Given the description of an element on the screen output the (x, y) to click on. 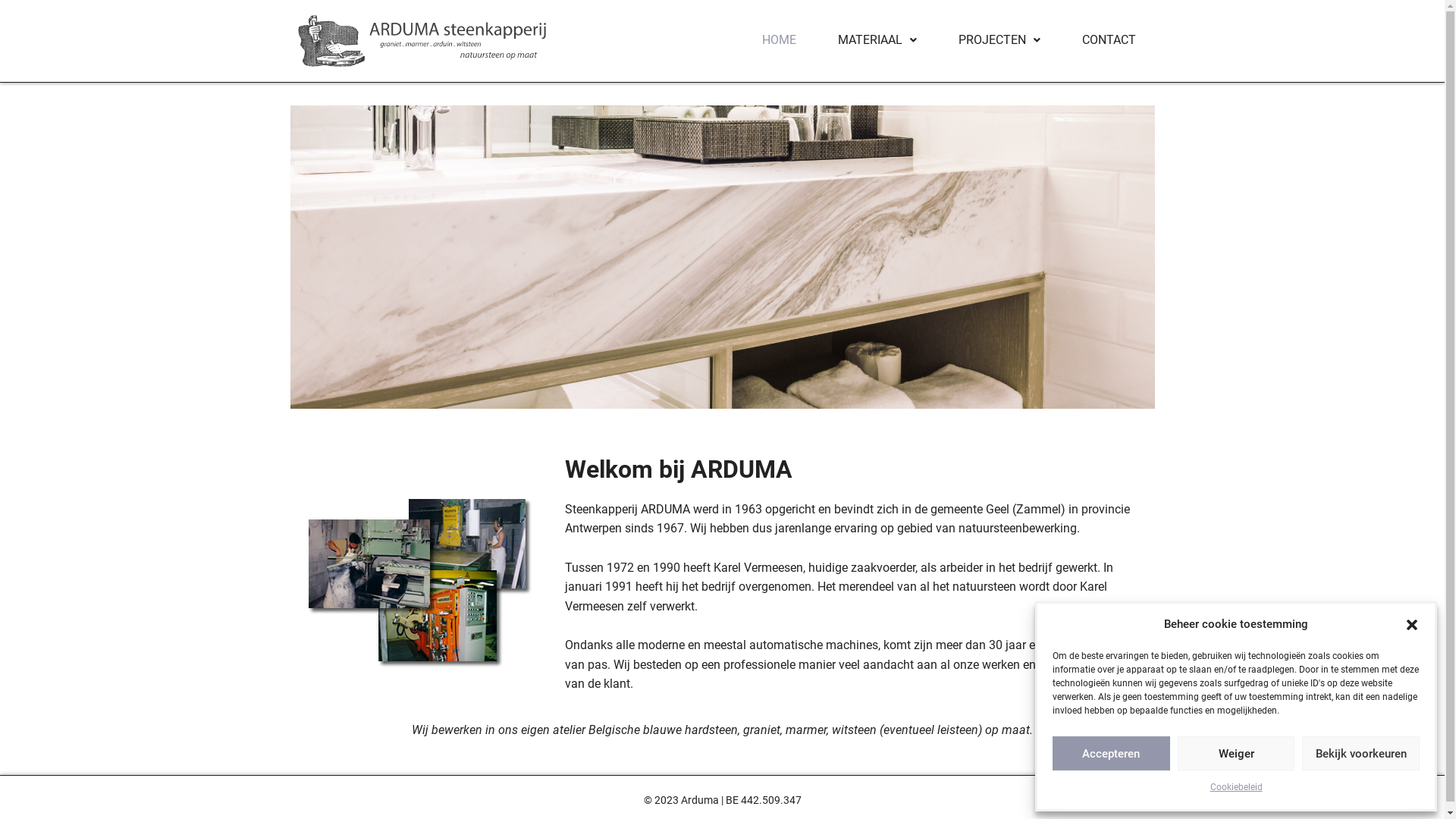
Accepteren Element type: text (1111, 753)
Cookiebeleid Element type: text (1236, 787)
Weiger Element type: text (1236, 753)
PROJECTEN Element type: text (998, 40)
HOME Element type: text (778, 40)
MATERIAAL Element type: text (877, 40)
Bekijk voorkeuren Element type: text (1360, 753)
CONTACT Element type: text (1108, 40)
